Given the description of an element on the screen output the (x, y) to click on. 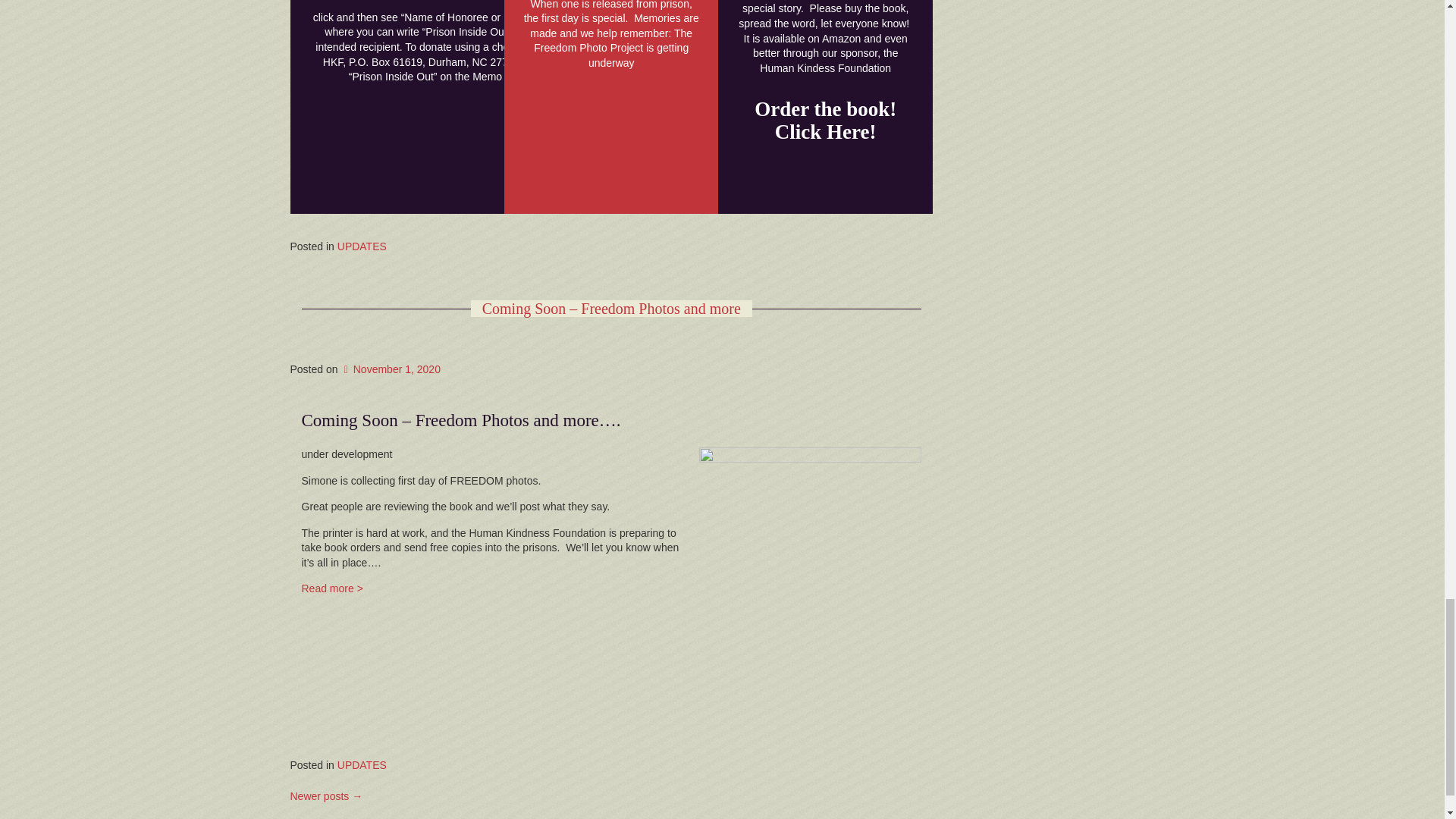
November 1, 2020 (390, 369)
UPDATES (362, 246)
Order the book! Click Here! (825, 120)
UPDATES (362, 765)
